Given the description of an element on the screen output the (x, y) to click on. 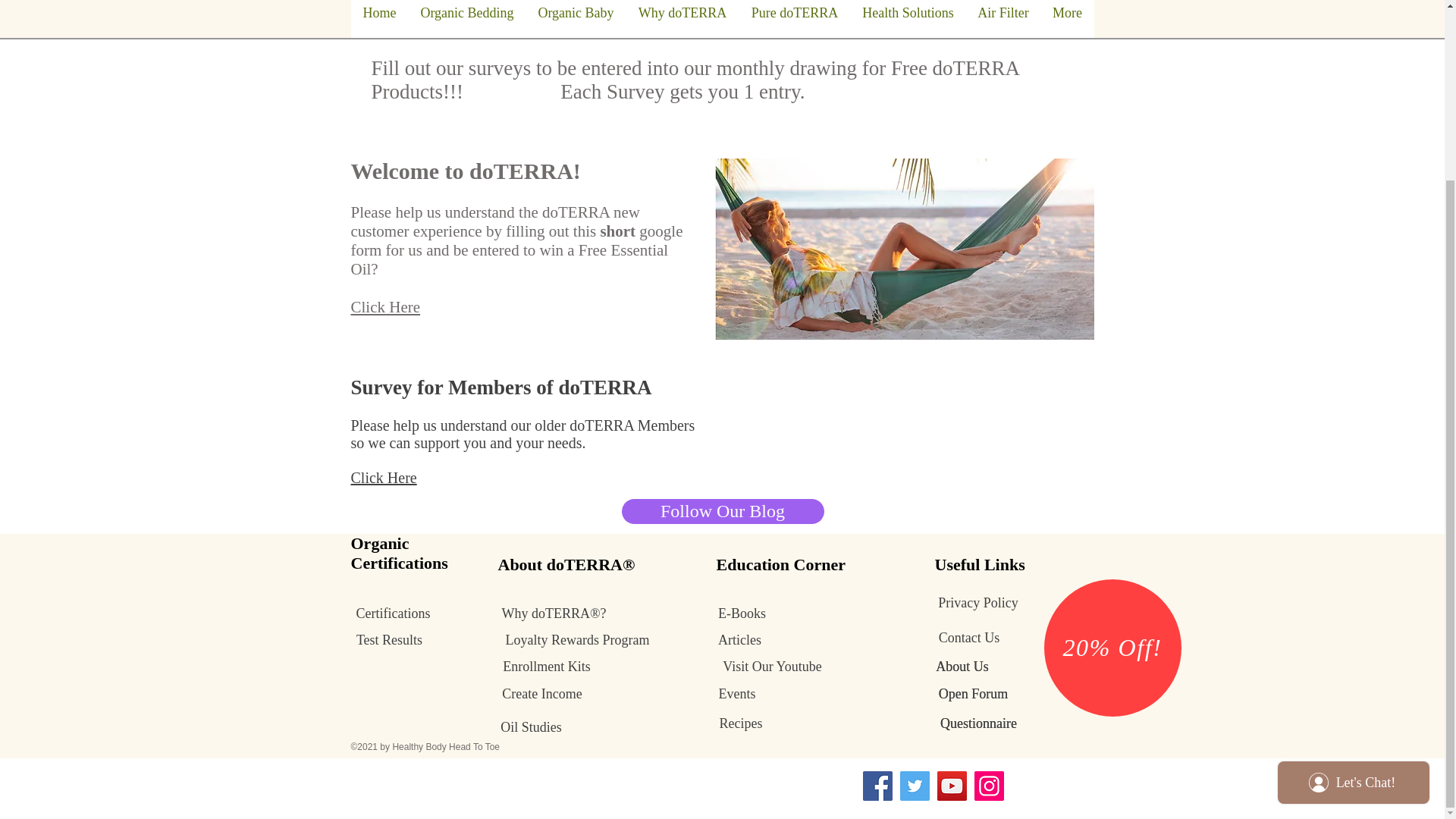
Home (378, 18)
Organic Bedding (466, 18)
Organic Baby (575, 18)
